Given the description of an element on the screen output the (x, y) to click on. 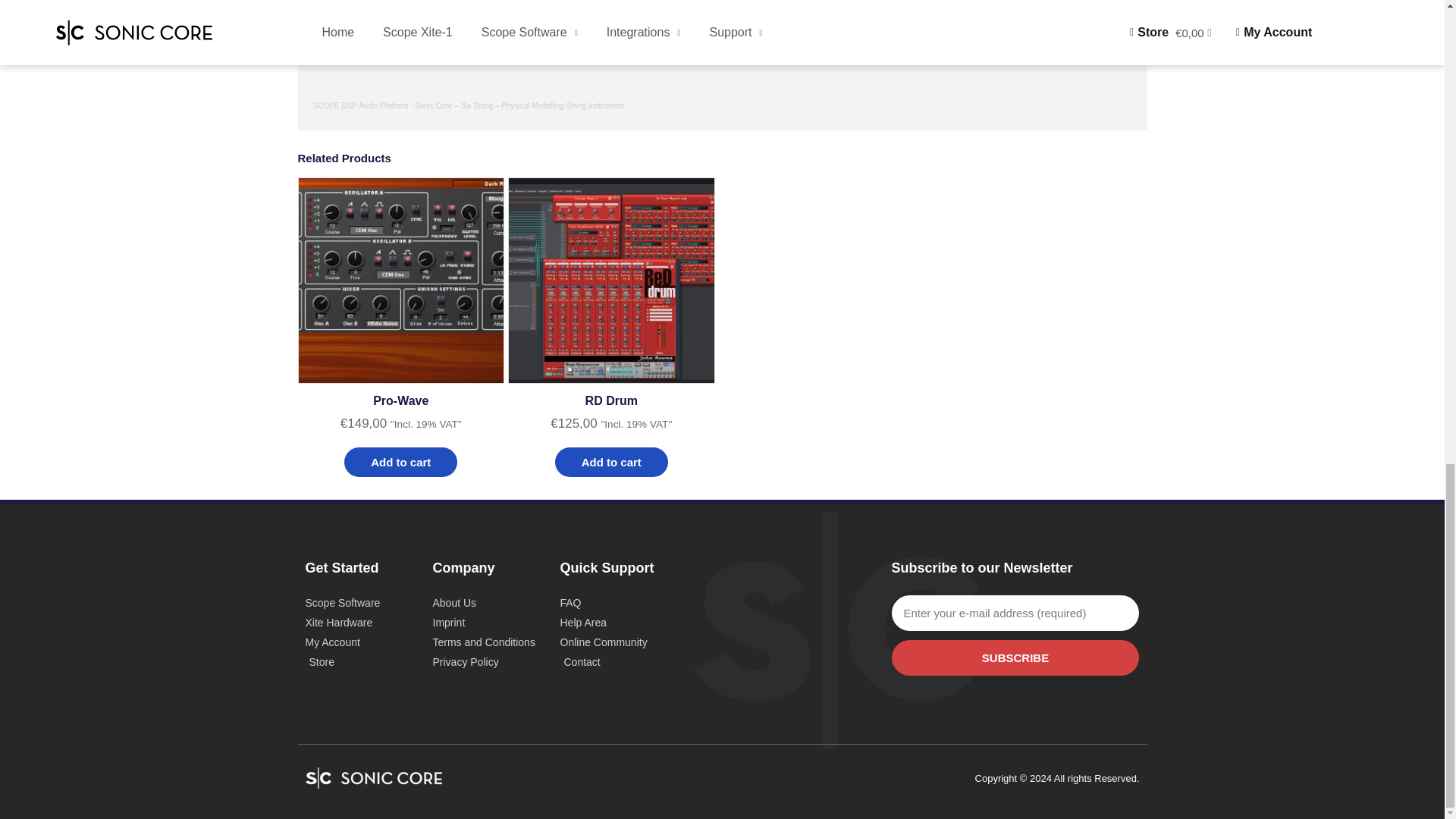
SCOPE DSP Audio Platform (360, 105)
